Given the description of an element on the screen output the (x, y) to click on. 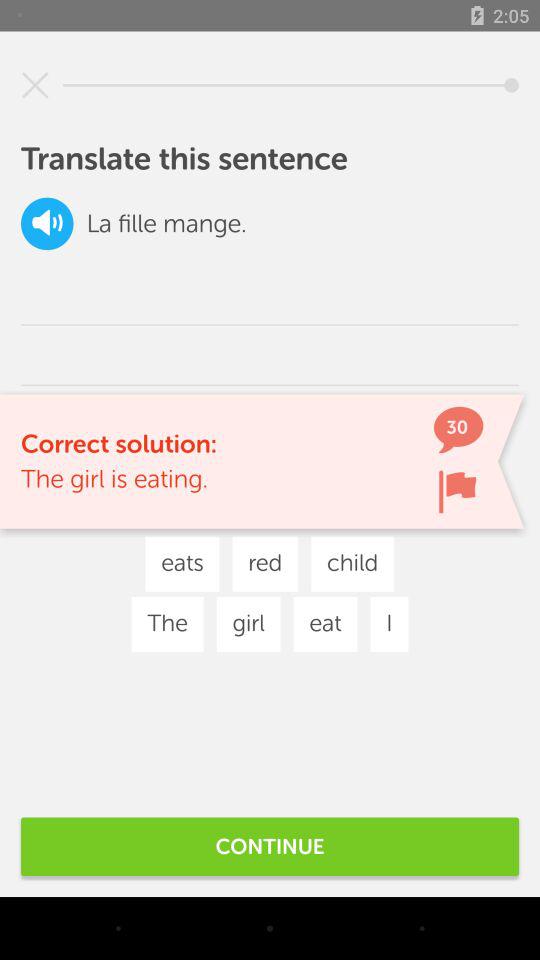
go sound (47, 223)
